Given the description of an element on the screen output the (x, y) to click on. 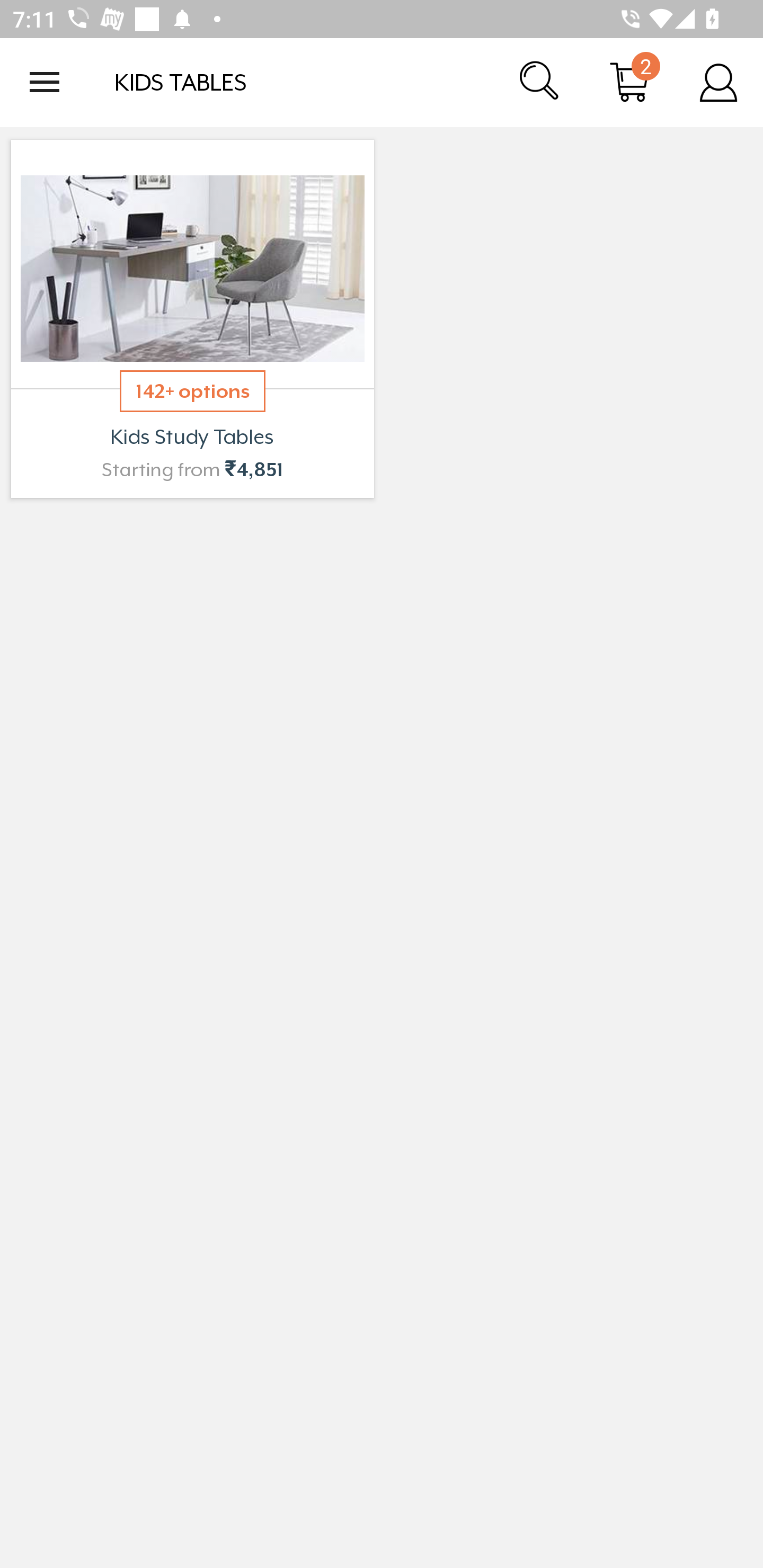
Open navigation drawer (44, 82)
Search (540, 81)
Cart (629, 81)
Account Details (718, 81)
405+ options Kids Beds Starting from  ₹2,939 (191, 318)
